Given the description of an element on the screen output the (x, y) to click on. 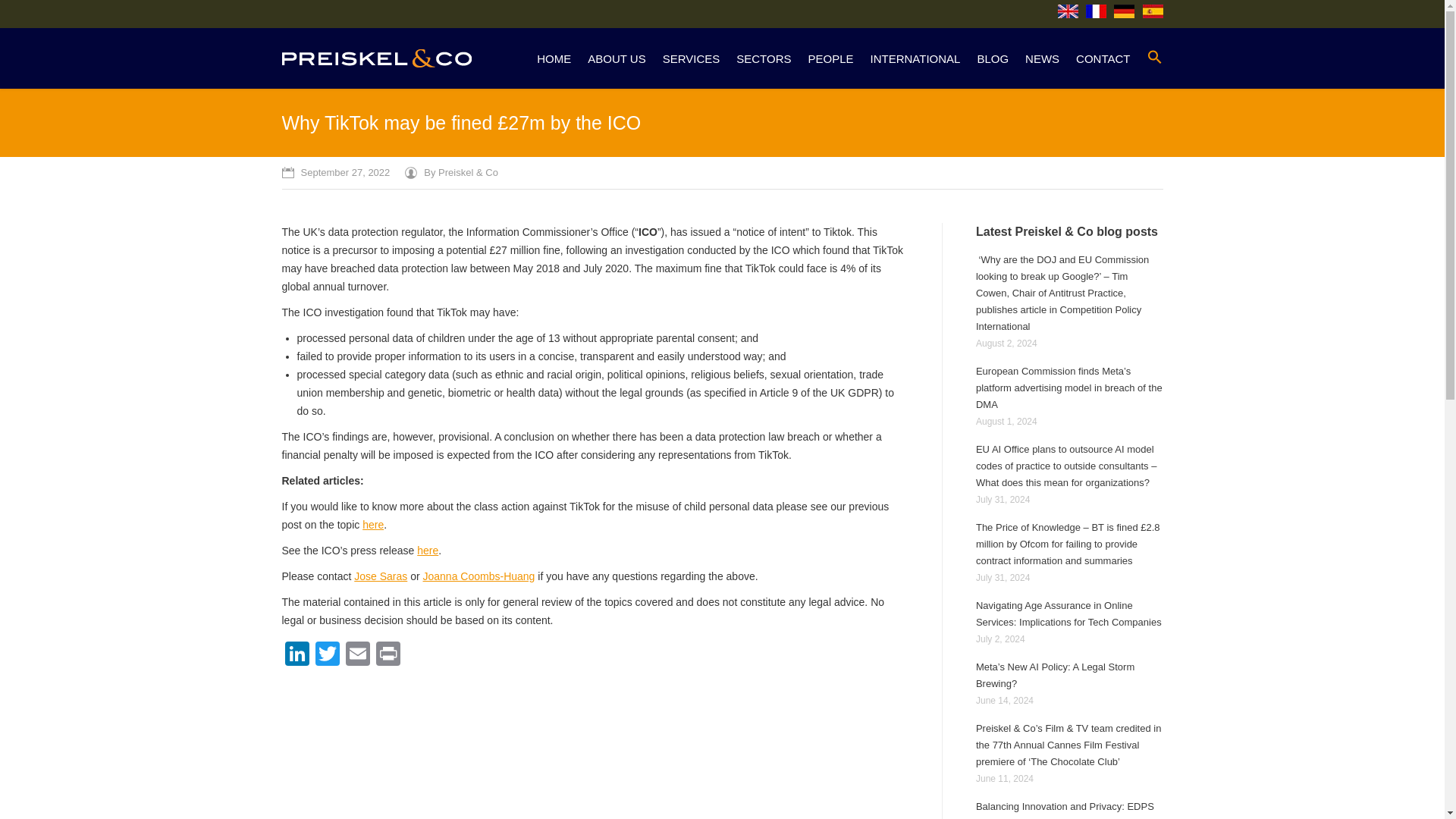
SERVICES (691, 59)
HOME (553, 59)
Email (357, 655)
ABOUT US (616, 59)
2:32 pm (336, 172)
Twitter (327, 655)
Print (387, 655)
SECTORS (763, 59)
LinkedIn (297, 655)
PEOPLE (829, 59)
